Given the description of an element on the screen output the (x, y) to click on. 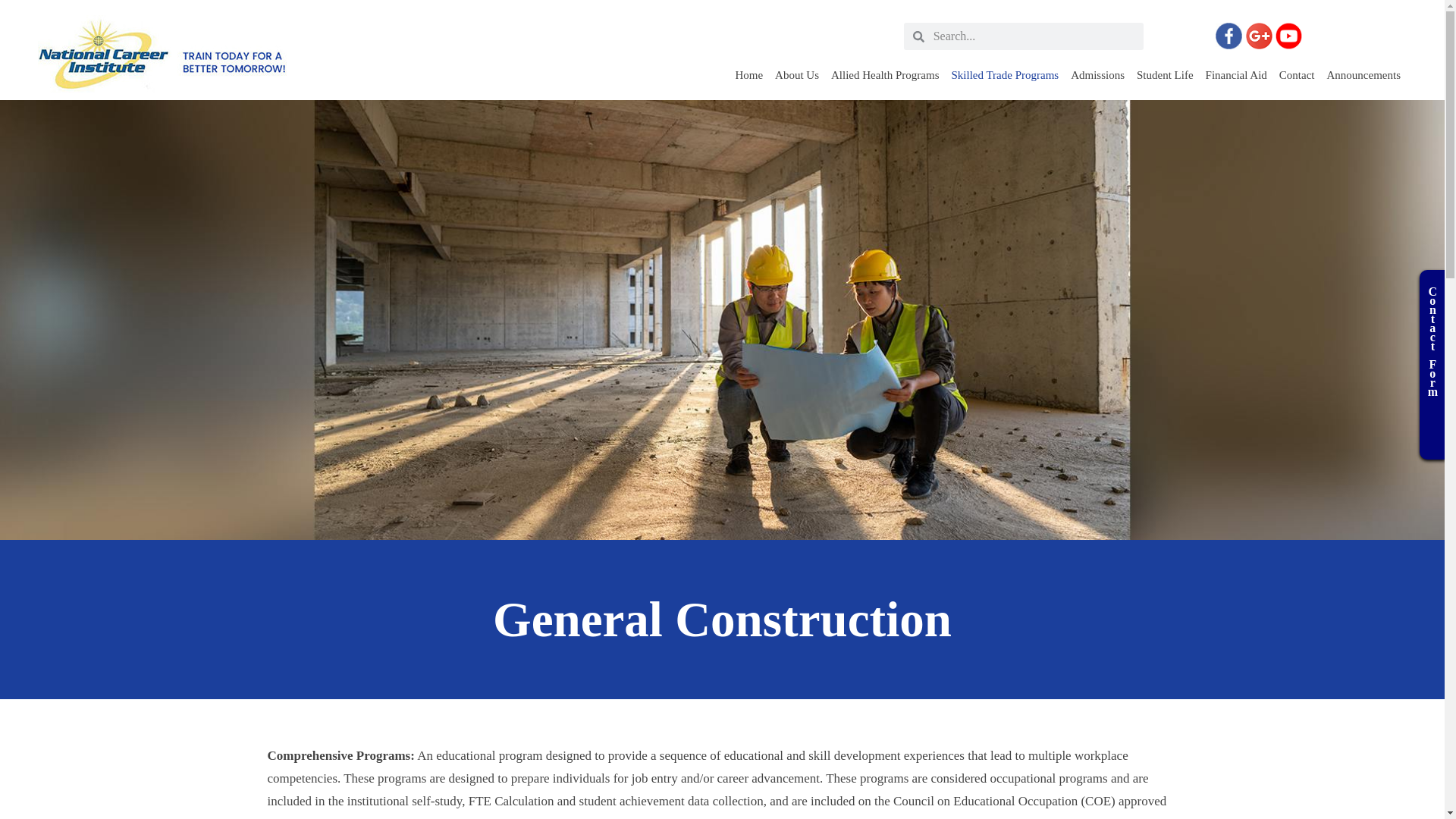
Search (1033, 35)
Announcements (1363, 74)
Admissions (1097, 74)
Contact (1296, 74)
About Us (796, 74)
Financial Aid (1235, 74)
Skilled Trade Programs (1004, 74)
Allied Health Programs (884, 74)
Student Life (1165, 74)
Home (748, 74)
